Given the description of an element on the screen output the (x, y) to click on. 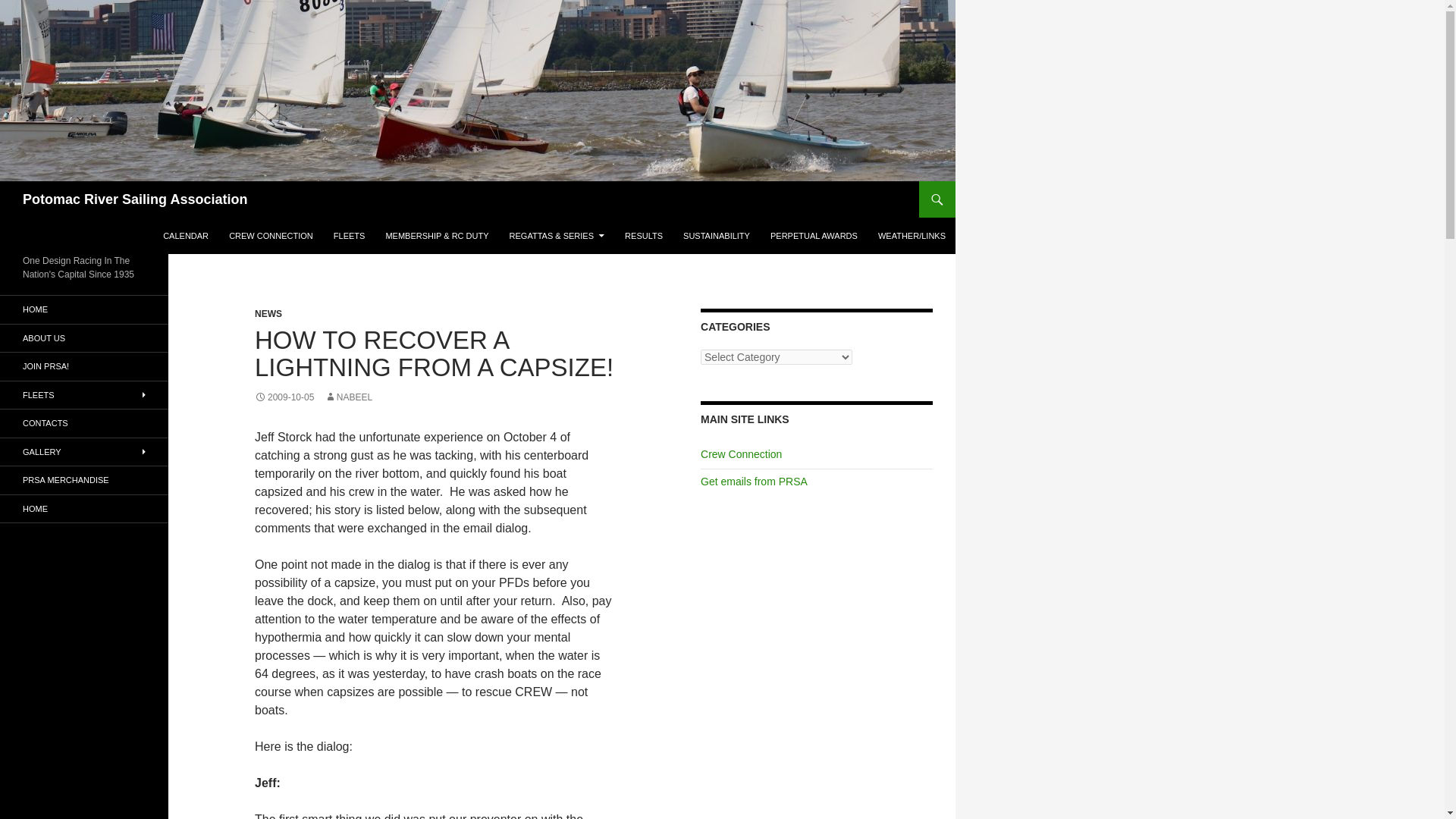
Get emails from PRSA (754, 481)
ABOUT US (84, 338)
Potomac River Sailing Association (135, 198)
FLEETS (349, 235)
HOME (84, 309)
PERPETUAL AWARDS (813, 235)
NEWS (268, 313)
CREW CONNECTION (270, 235)
CALENDAR (185, 235)
How to get the PRSA email newsletter (754, 481)
Crew Connection (740, 453)
NABEEL (348, 397)
